Given the description of an element on the screen output the (x, y) to click on. 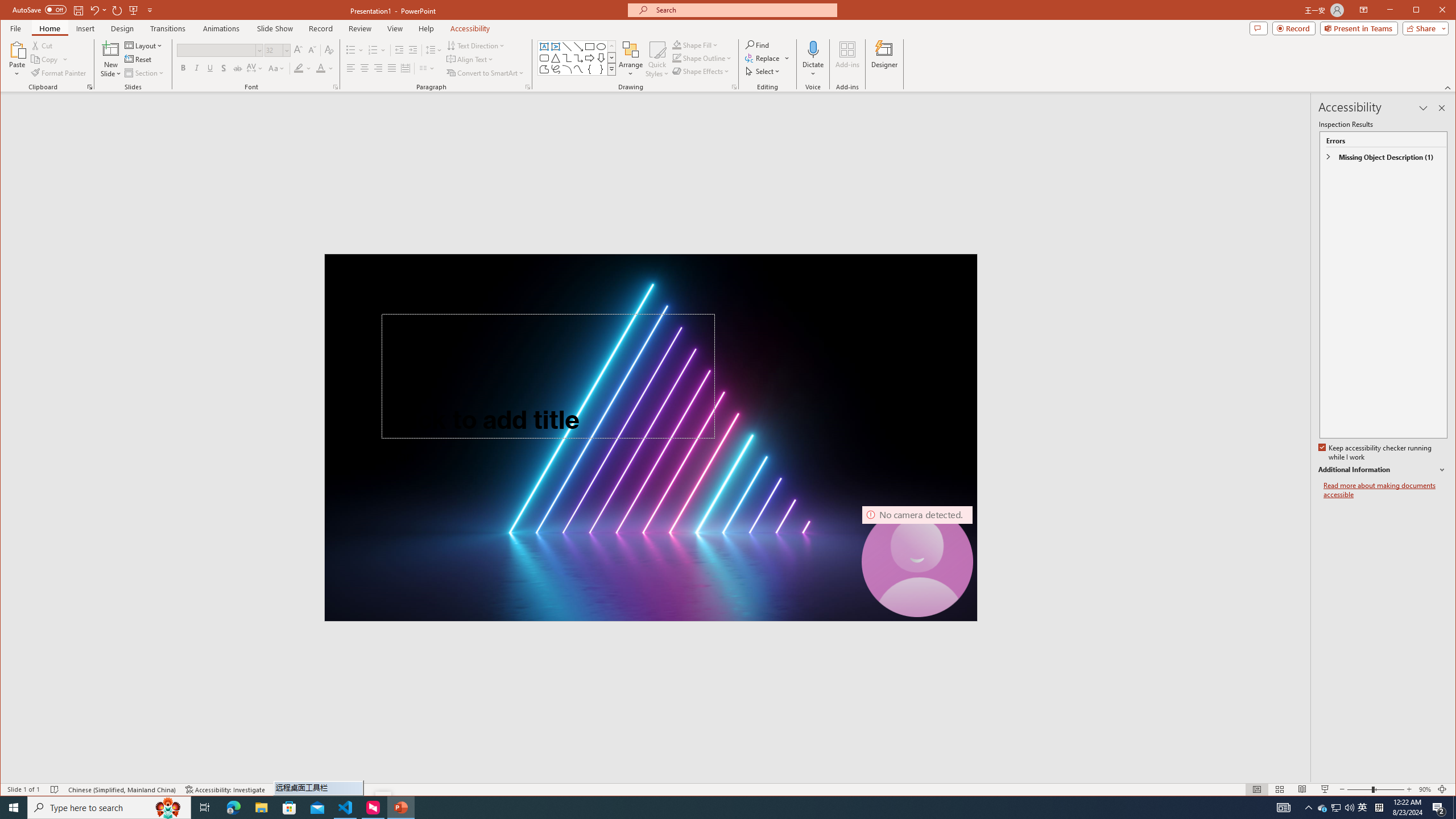
Text Highlight Color Yellow (298, 68)
Arc (567, 69)
Subtitle TextBox (515, 495)
Decrease Font Size (311, 49)
Bold (182, 68)
Shape Effects (702, 70)
